Given the description of an element on the screen output the (x, y) to click on. 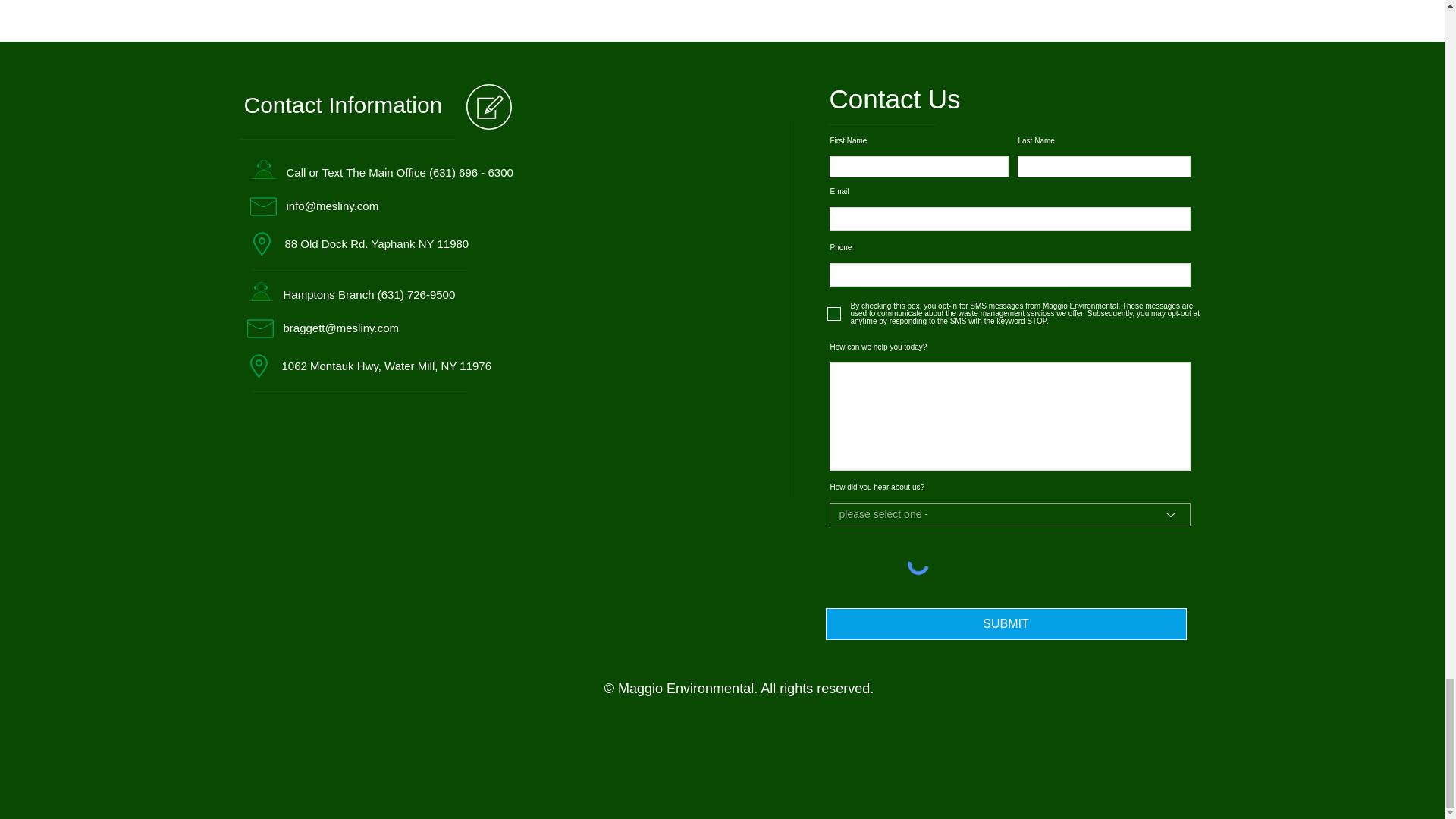
88 Old Dock Rd. Yaphank NY 11980  (378, 243)
